Given the description of an element on the screen output the (x, y) to click on. 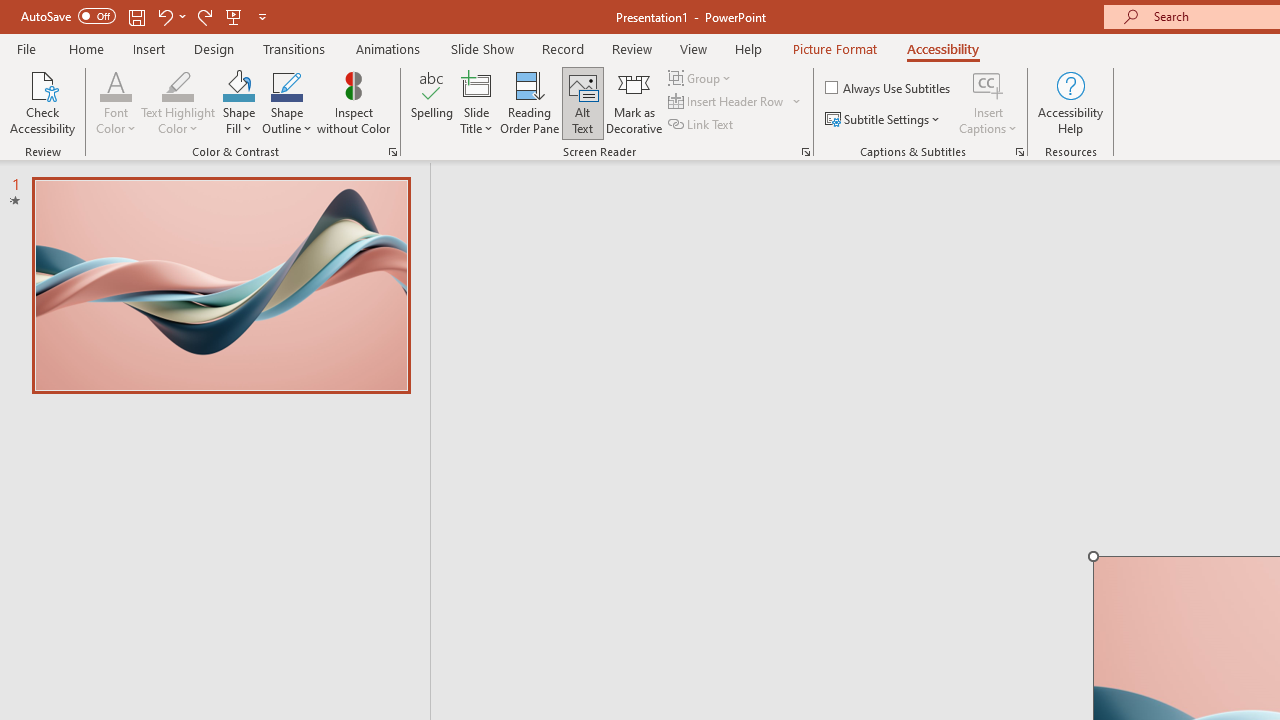
Picture Format (834, 48)
Screen Reader (805, 151)
